Given the description of an element on the screen output the (x, y) to click on. 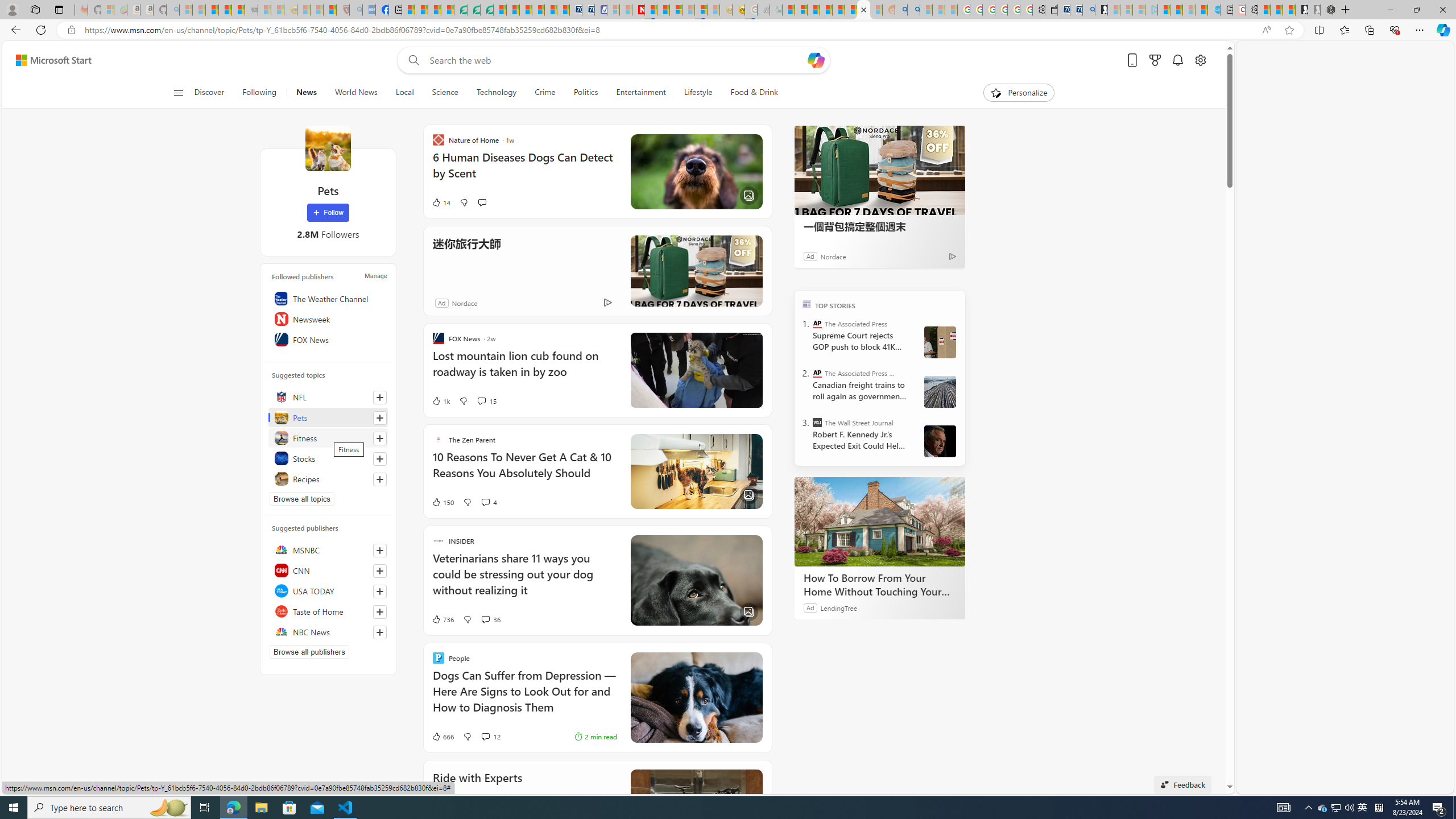
150 Like (442, 502)
MSNBC (327, 549)
Manage (375, 275)
The Associated Press - Business News (816, 372)
LendingTree - Compare Lenders (460, 9)
Food & Drink (748, 92)
Settings (1251, 9)
Newsweek (327, 318)
Favorites (1344, 29)
